Given the description of an element on the screen output the (x, y) to click on. 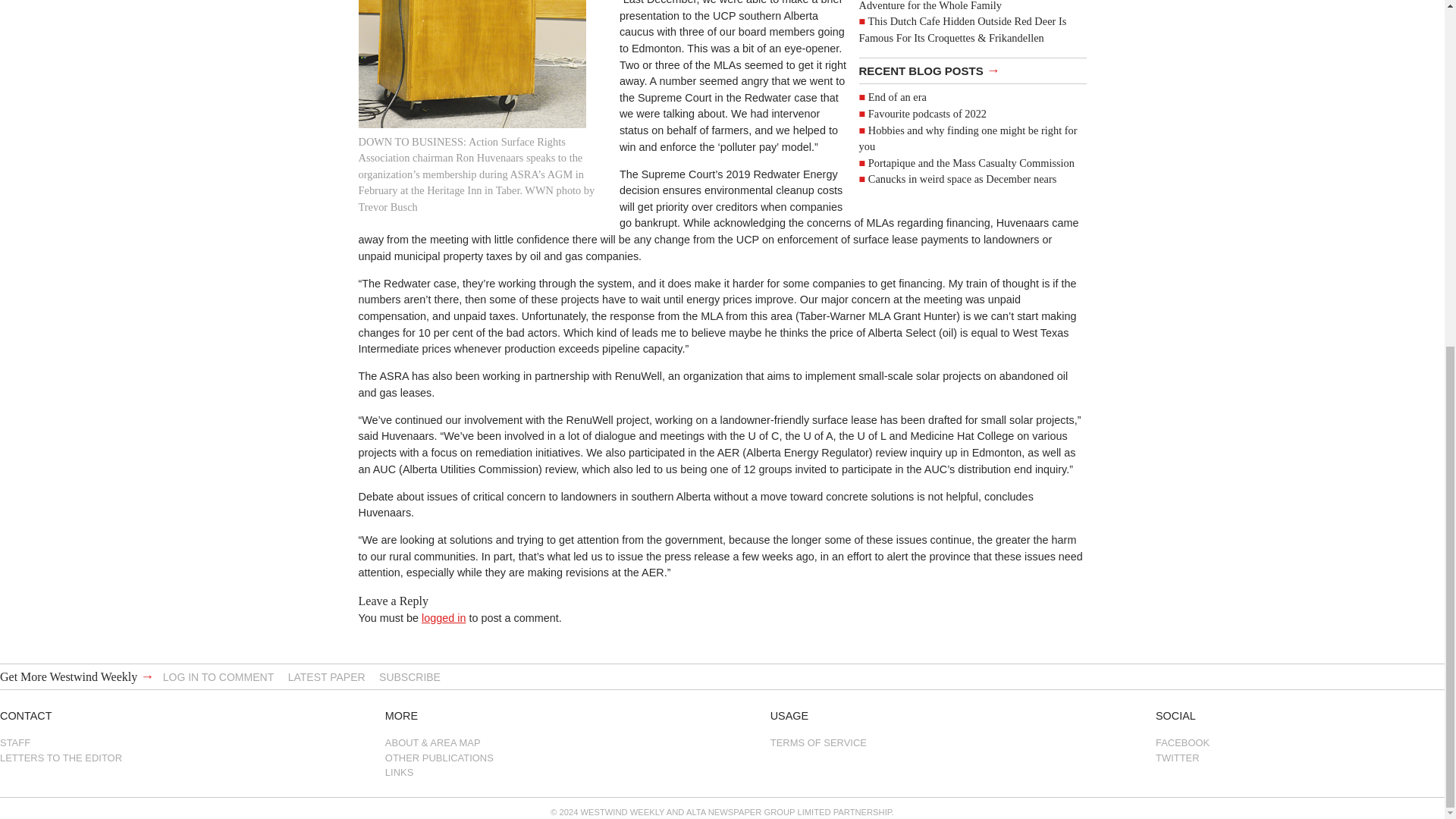
Hobbies and why finding one might be right for you (968, 137)
Favourite podcasts of 2022 (927, 113)
Canucks in weird space as December nears (962, 178)
Portapique and the Mass Casualty Commission (970, 162)
End of an era (896, 96)
